Given the description of an element on the screen output the (x, y) to click on. 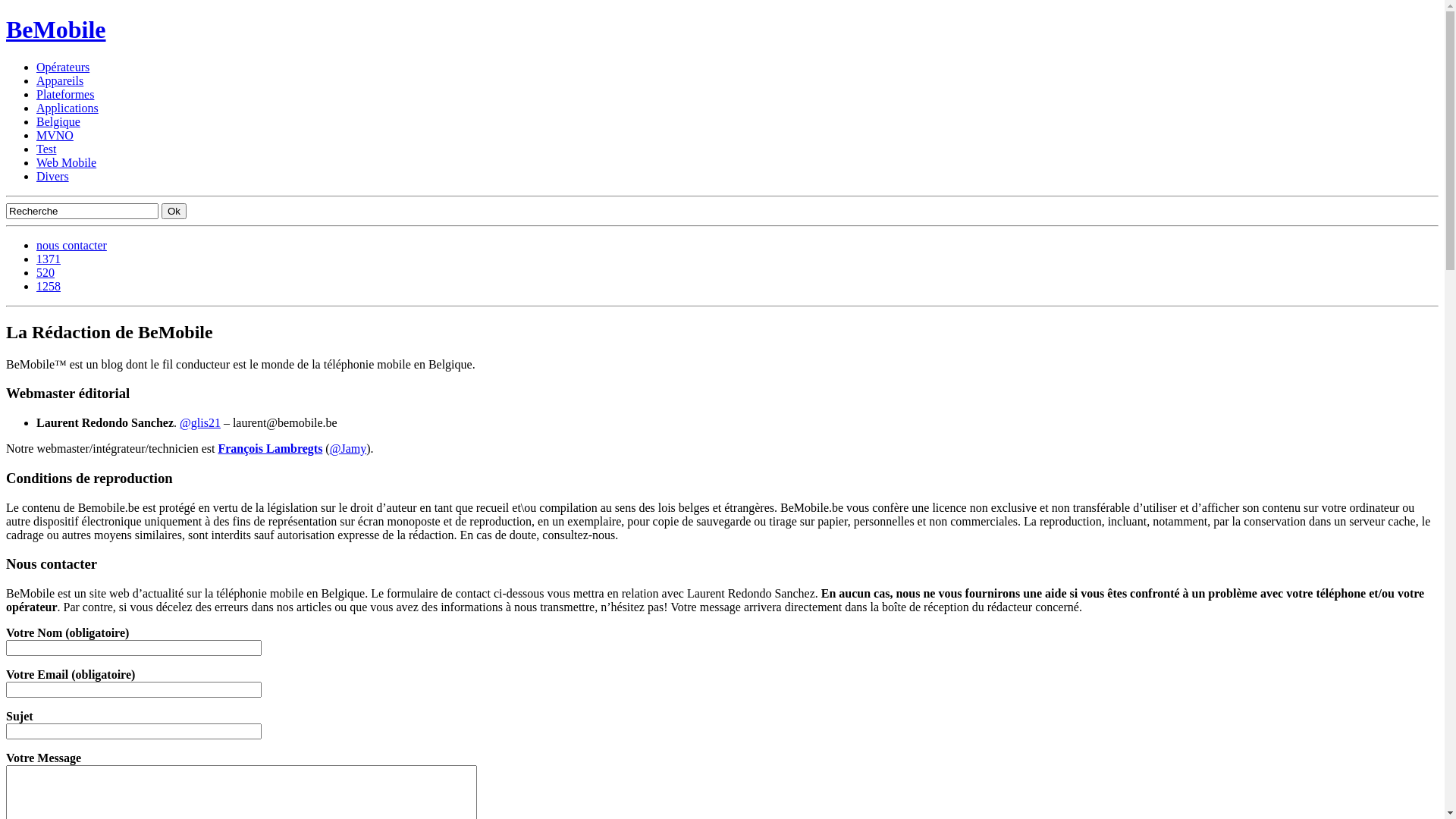
Divers Element type: text (52, 175)
nous contacter Element type: text (71, 244)
520 Element type: text (45, 272)
Ok Element type: text (173, 211)
1258 Element type: text (48, 285)
Plateformes Element type: text (65, 93)
Test Element type: text (46, 148)
@glis21 Element type: text (199, 422)
BeMobile Element type: text (56, 29)
Votre recherche Element type: hover (82, 211)
@Jamy Element type: text (348, 448)
1371 Element type: text (48, 258)
MVNO Element type: text (54, 134)
Belgique Element type: text (58, 121)
Appareils Element type: text (59, 80)
Applications Element type: text (67, 107)
Web Mobile Element type: text (66, 162)
